Given the description of an element on the screen output the (x, y) to click on. 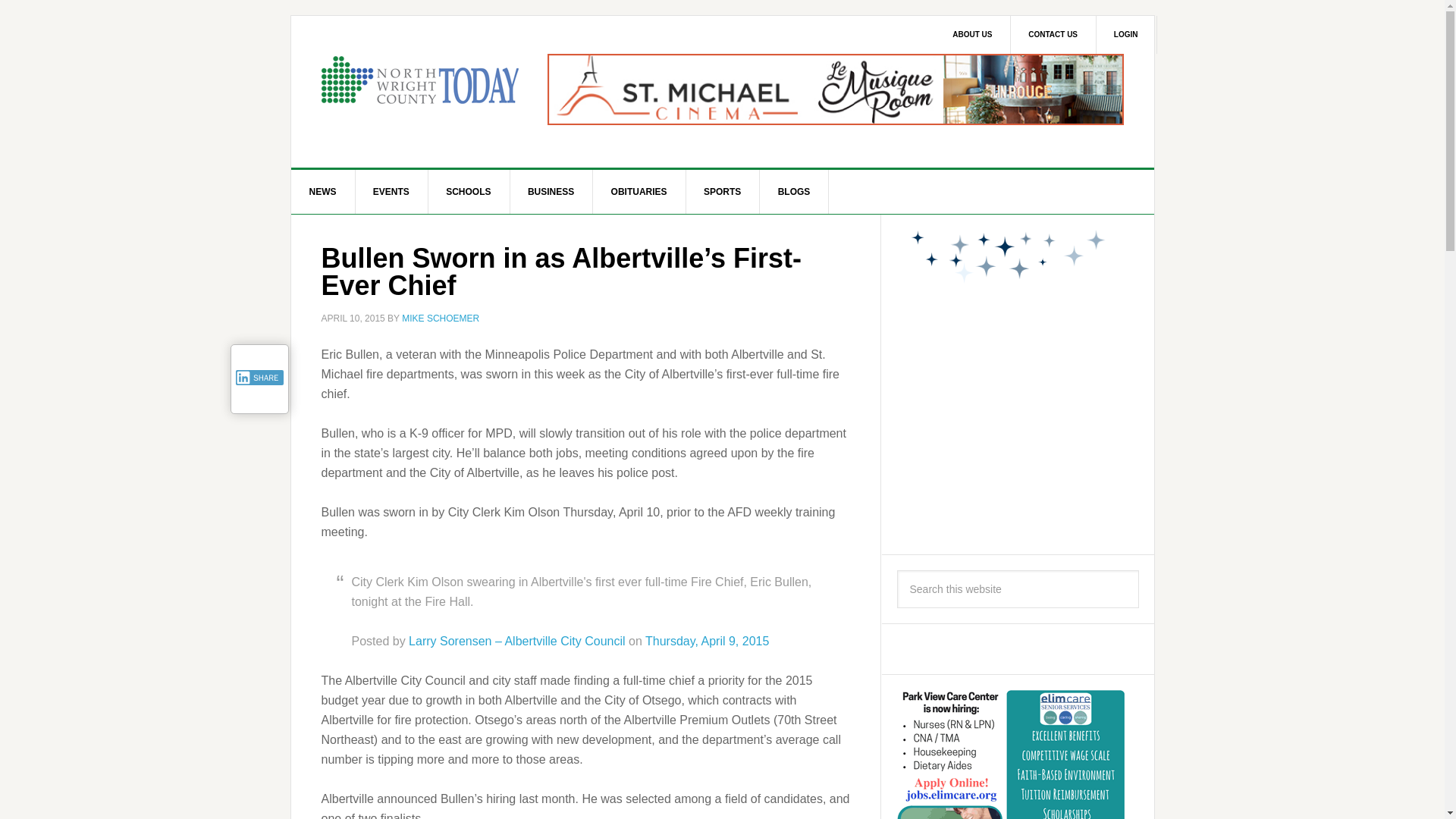
CONTACT US (1053, 34)
EVENTS (391, 191)
BUSINESS (550, 191)
BLOGS (794, 191)
SCHOOLS (468, 191)
Thursday, April 9, 2015 (706, 640)
OBITUARIES (638, 191)
ParkView Care Center 300x300 (1010, 754)
MIKE SCHOEMER (440, 317)
Share on Tumblr (258, 398)
NEWS (323, 191)
LOGIN (1126, 34)
SPORTS (722, 191)
